Given the description of an element on the screen output the (x, y) to click on. 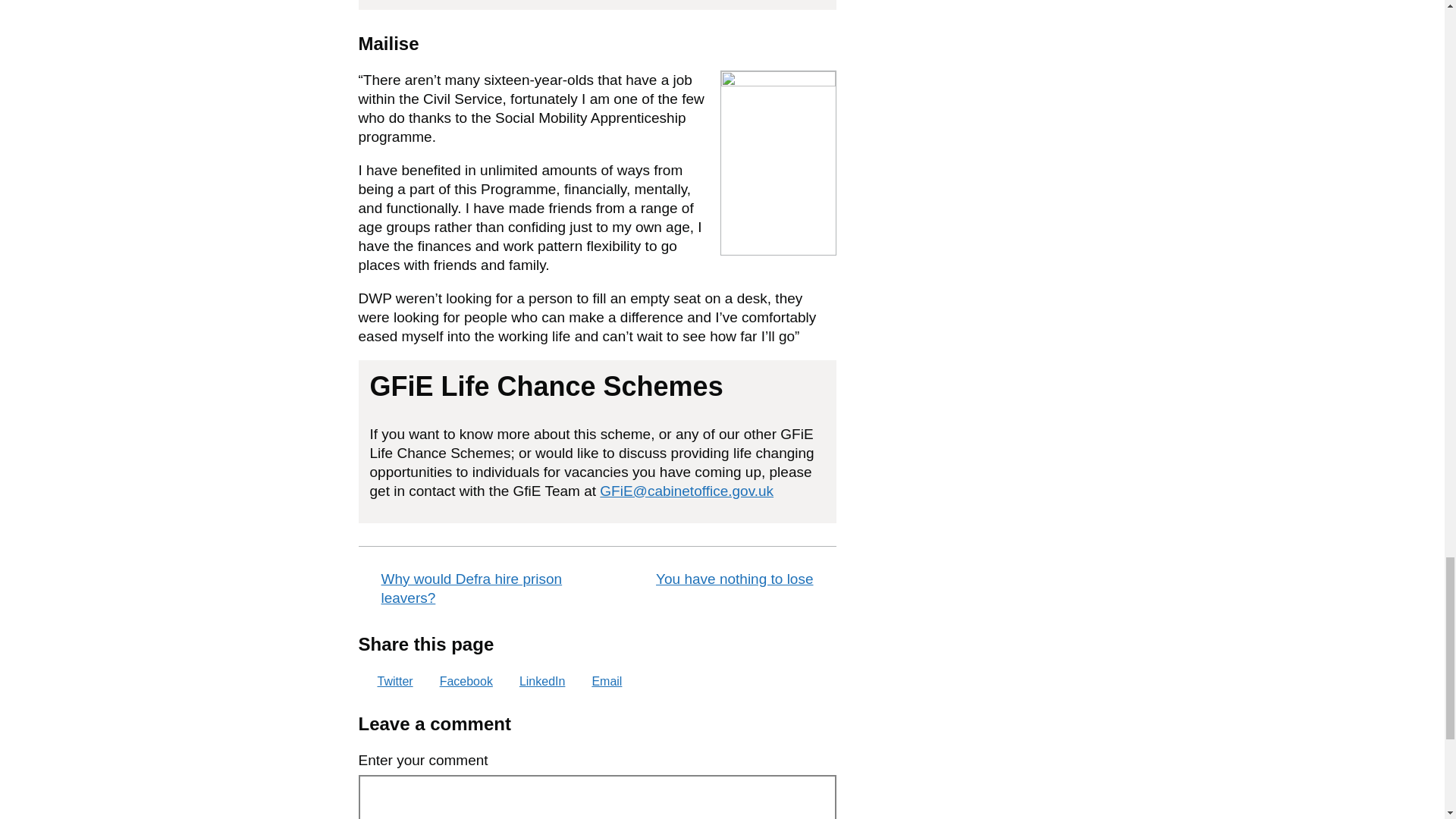
Twitter (385, 680)
LinkedIn (533, 680)
Facebook (456, 680)
You have nothing to lose (718, 578)
Email (596, 680)
Why would Defra hire prison leavers? (475, 588)
